Given the description of an element on the screen output the (x, y) to click on. 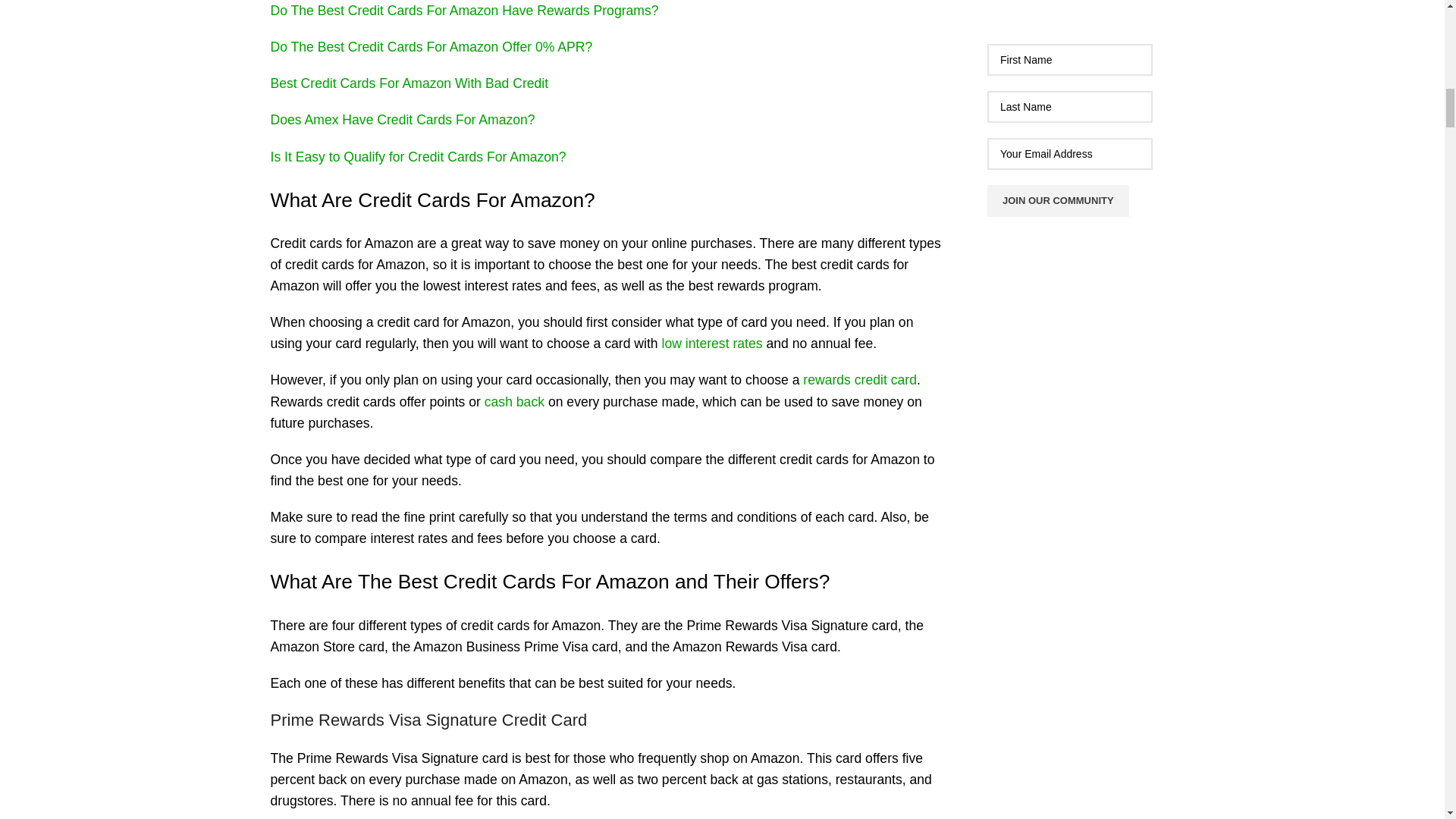
Does Amex Have Credit Cards For Amazon? (401, 119)
JOIN OUR COMMUNITY (1058, 201)
low interest rates (712, 343)
Best Credit Cards For Amazon With Bad Credit (408, 83)
Do The Best Credit Cards For Amazon Have Rewards Programs? (463, 10)
rewards credit card (860, 379)
Is It Easy to Qualify for Credit Cards For Amazon? (417, 156)
cash back (514, 401)
